Given the description of an element on the screen output the (x, y) to click on. 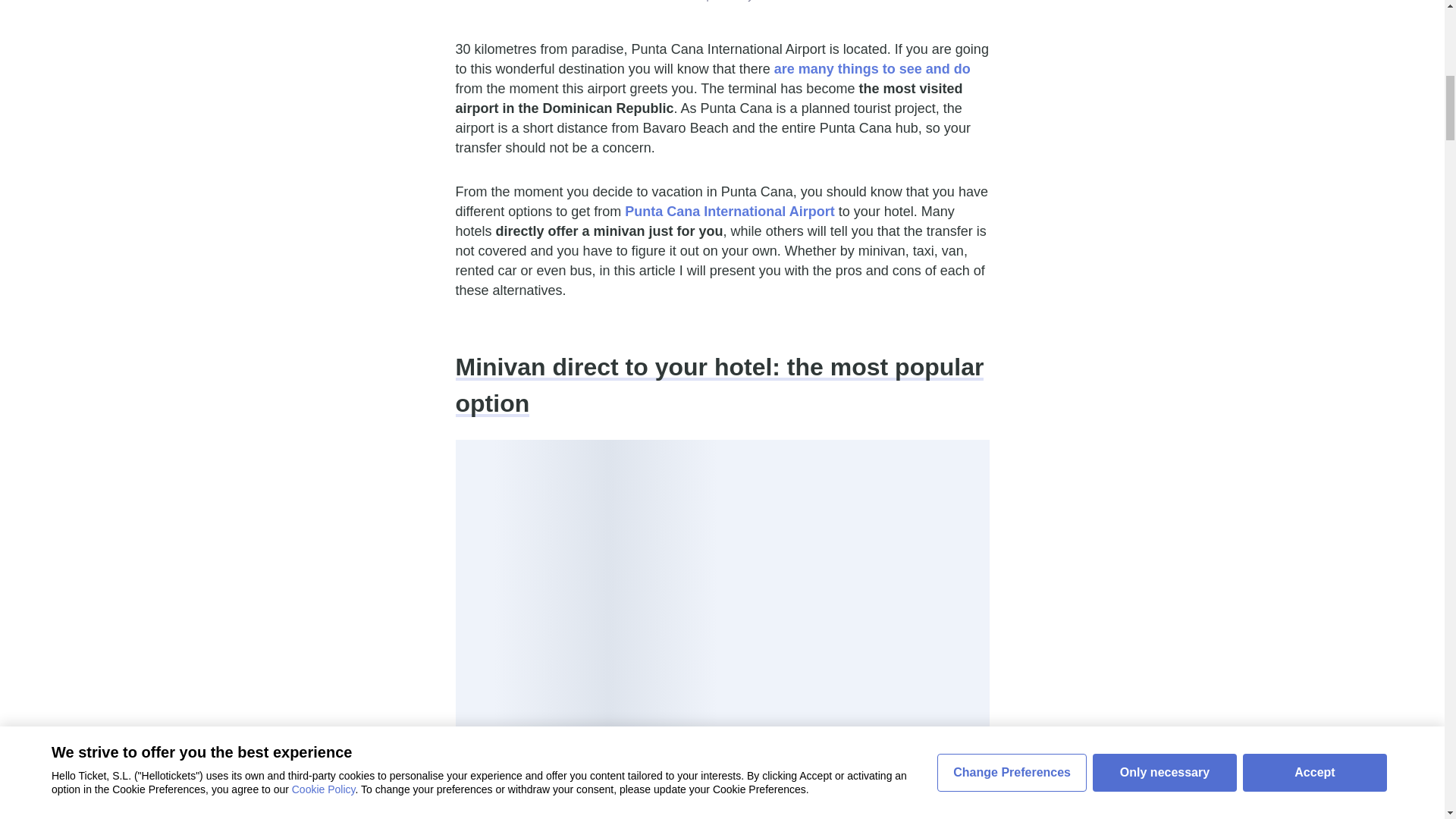
are many things to see and do (872, 68)
Punta Cana International Airport (729, 211)
